Given the description of an element on the screen output the (x, y) to click on. 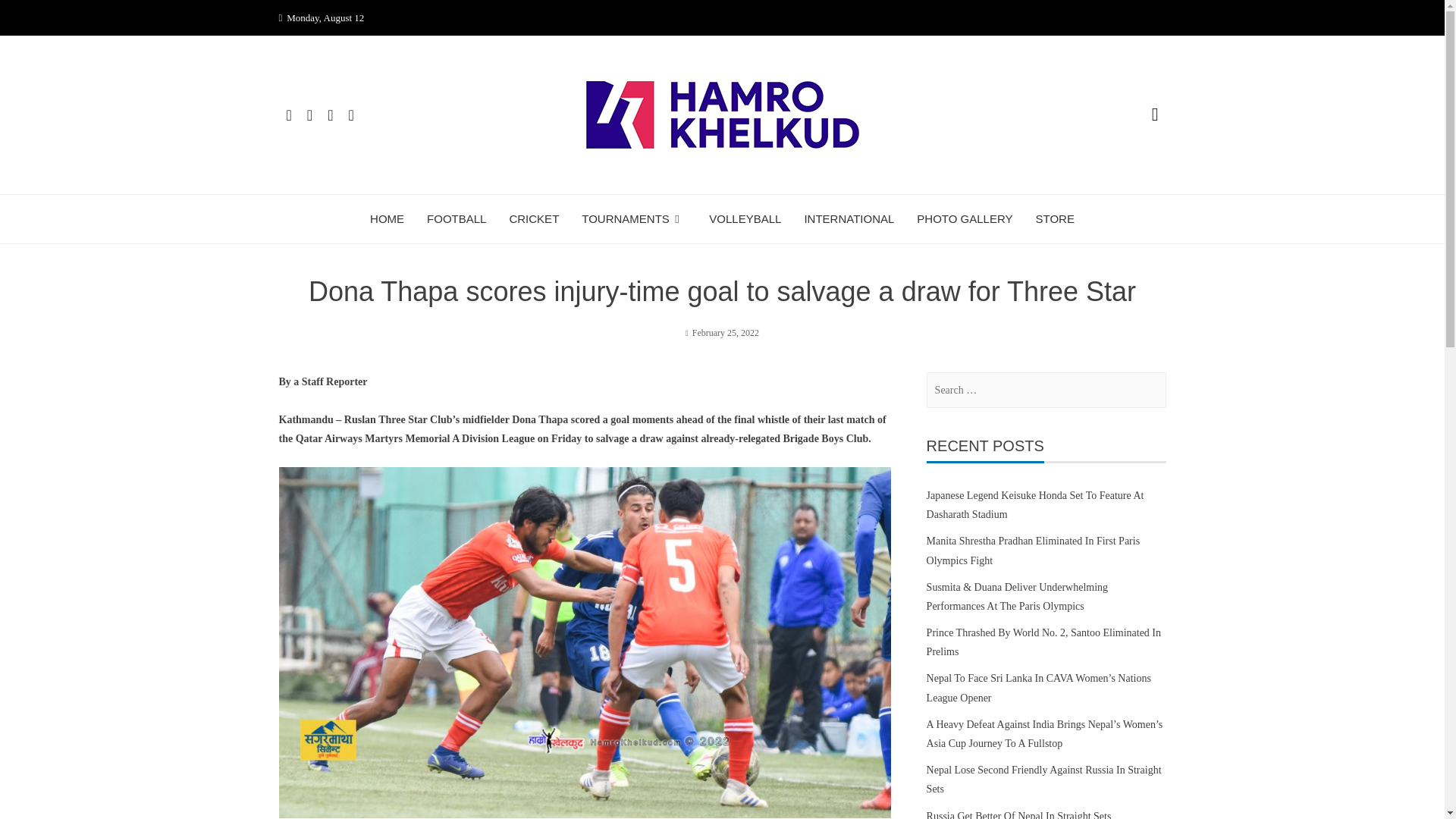
CRICKET (533, 218)
VOLLEYBALL (744, 218)
HOME (386, 218)
FOOTBALL (456, 218)
INTERNATIONAL (848, 218)
TOURNAMENTS (632, 218)
